Given the description of an element on the screen output the (x, y) to click on. 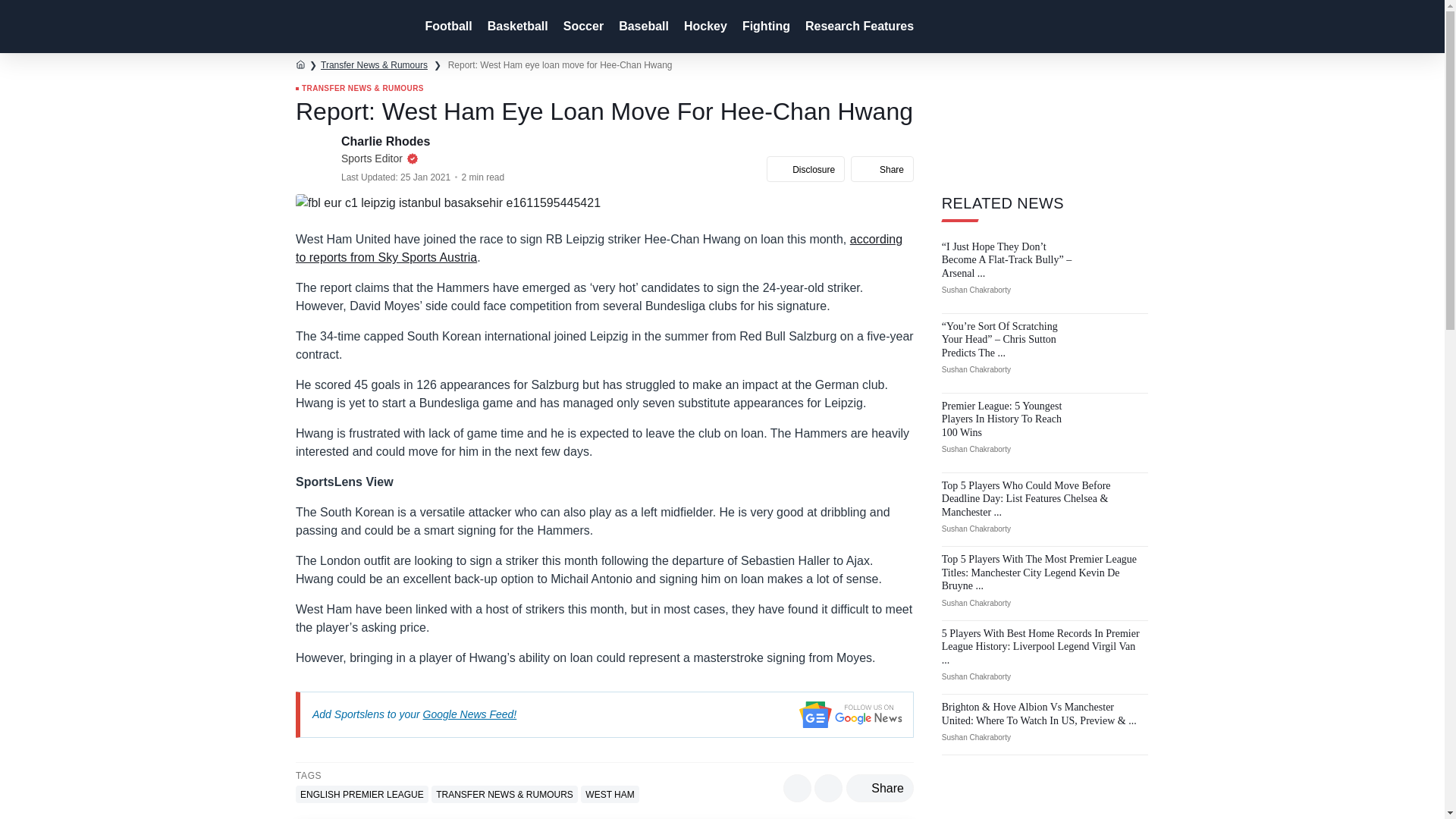
Research Features (858, 26)
WEST HAM (609, 794)
Charlie Rhodes (386, 141)
according to reports from Sky Sports Austria (598, 247)
Share (879, 787)
Football (445, 26)
Google News Feed! (469, 714)
Soccer (582, 26)
ENGLISH PREMIER LEAGUE (361, 794)
Basketball (516, 26)
